Given the description of an element on the screen output the (x, y) to click on. 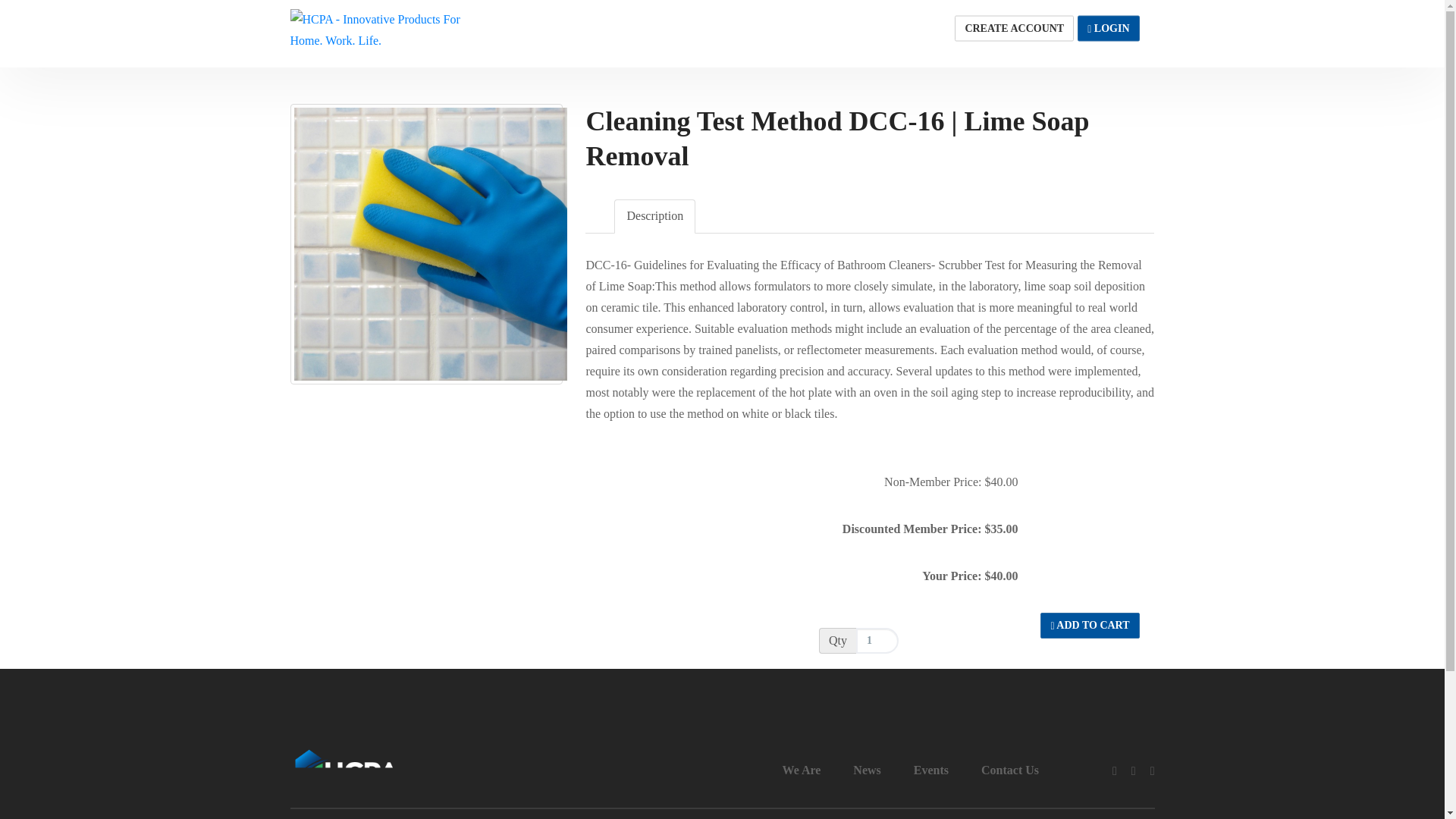
Create Account (722, 33)
Contact Us (1014, 28)
Login (1010, 771)
1 (1107, 28)
CREATE ACCOUNT (877, 640)
ADD TO CART (1014, 28)
LOGIN (1089, 625)
Description (1107, 28)
